Given the description of an element on the screen output the (x, y) to click on. 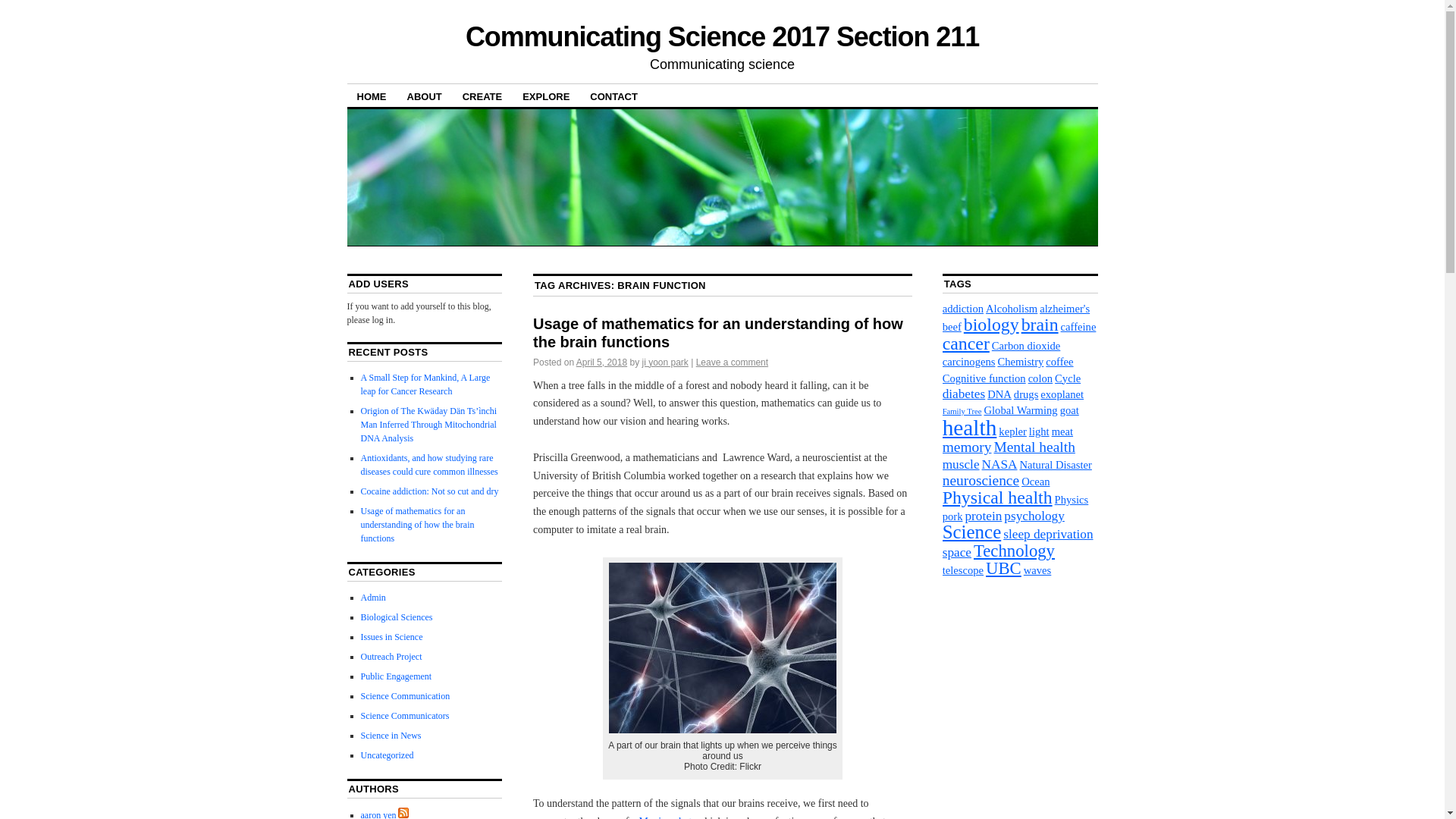
RSS feed (403, 812)
ABOUT (424, 96)
RSS feed (403, 814)
Communicating Science 2017 Section 211 (721, 36)
Leave a comment (731, 362)
Communicating Science 2017 Section 211 (721, 36)
EXPLORE (545, 96)
View all posts by ji yoon park (664, 362)
A Small Step for Mankind, A Large leap for Cancer Research (425, 384)
Mexican hat, (666, 817)
Posts by aaron yen (378, 814)
CONTACT (613, 96)
CREATE (482, 96)
